Given the description of an element on the screen output the (x, y) to click on. 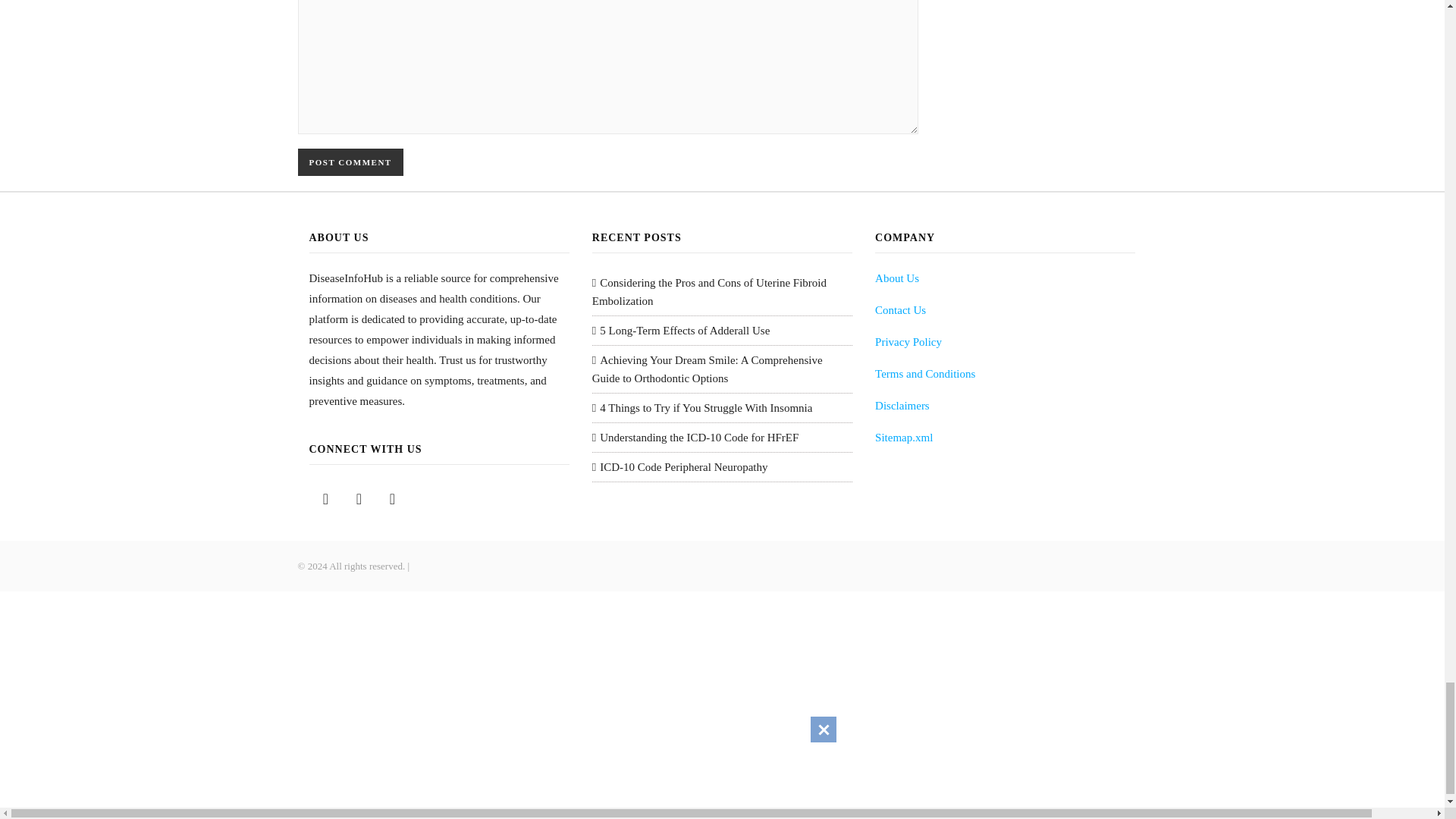
Post Comment (350, 162)
Social Media Icons (325, 499)
Social Media Icons (358, 499)
Social Media Icons (392, 499)
